Given the description of an element on the screen output the (x, y) to click on. 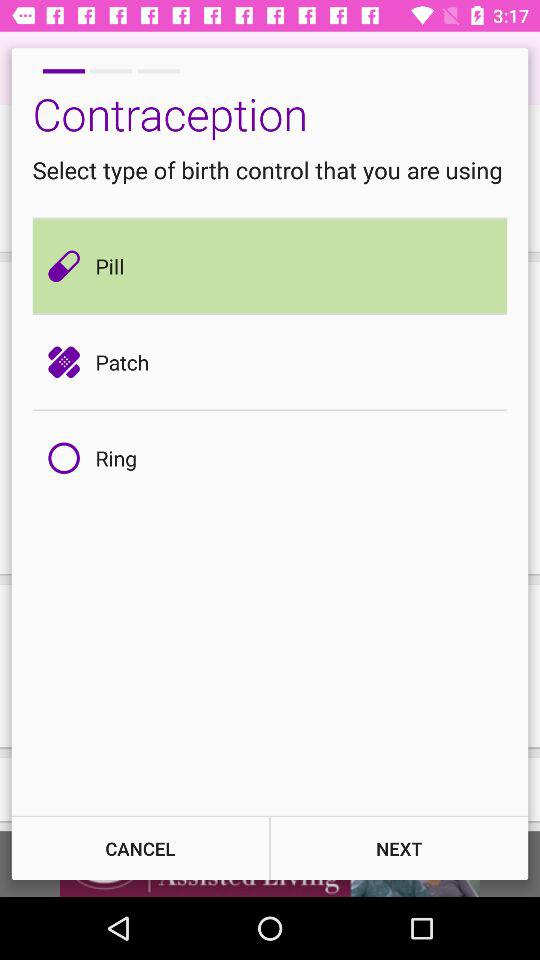
turn off the icon at the bottom right corner (399, 848)
